Given the description of an element on the screen output the (x, y) to click on. 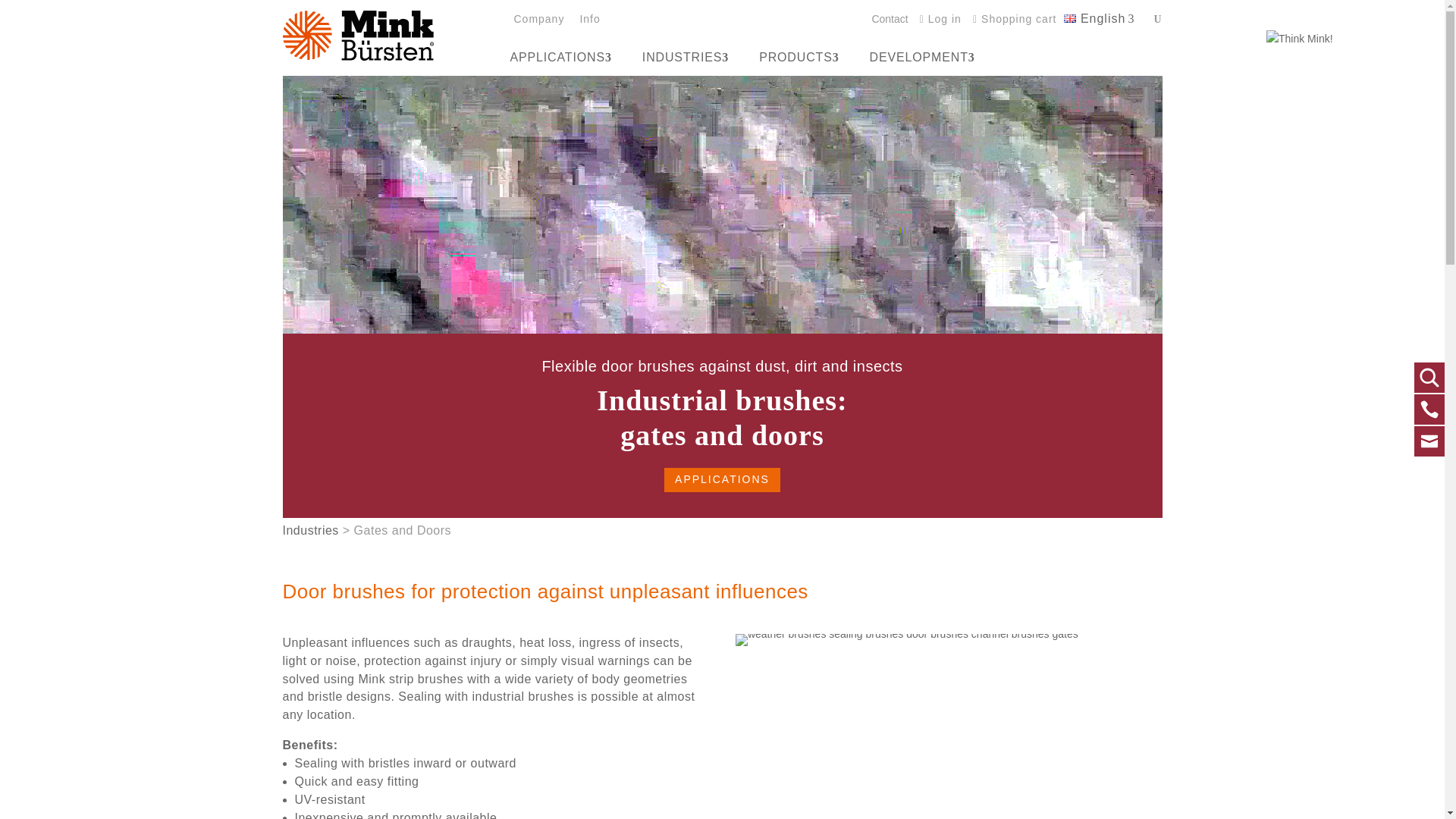
Log in (940, 19)
Shopping cart (1014, 19)
Info (587, 19)
English (1099, 18)
Contact (888, 19)
English (567, 57)
Think Mink! (1099, 18)
Company (1342, 39)
